Given the description of an element on the screen output the (x, y) to click on. 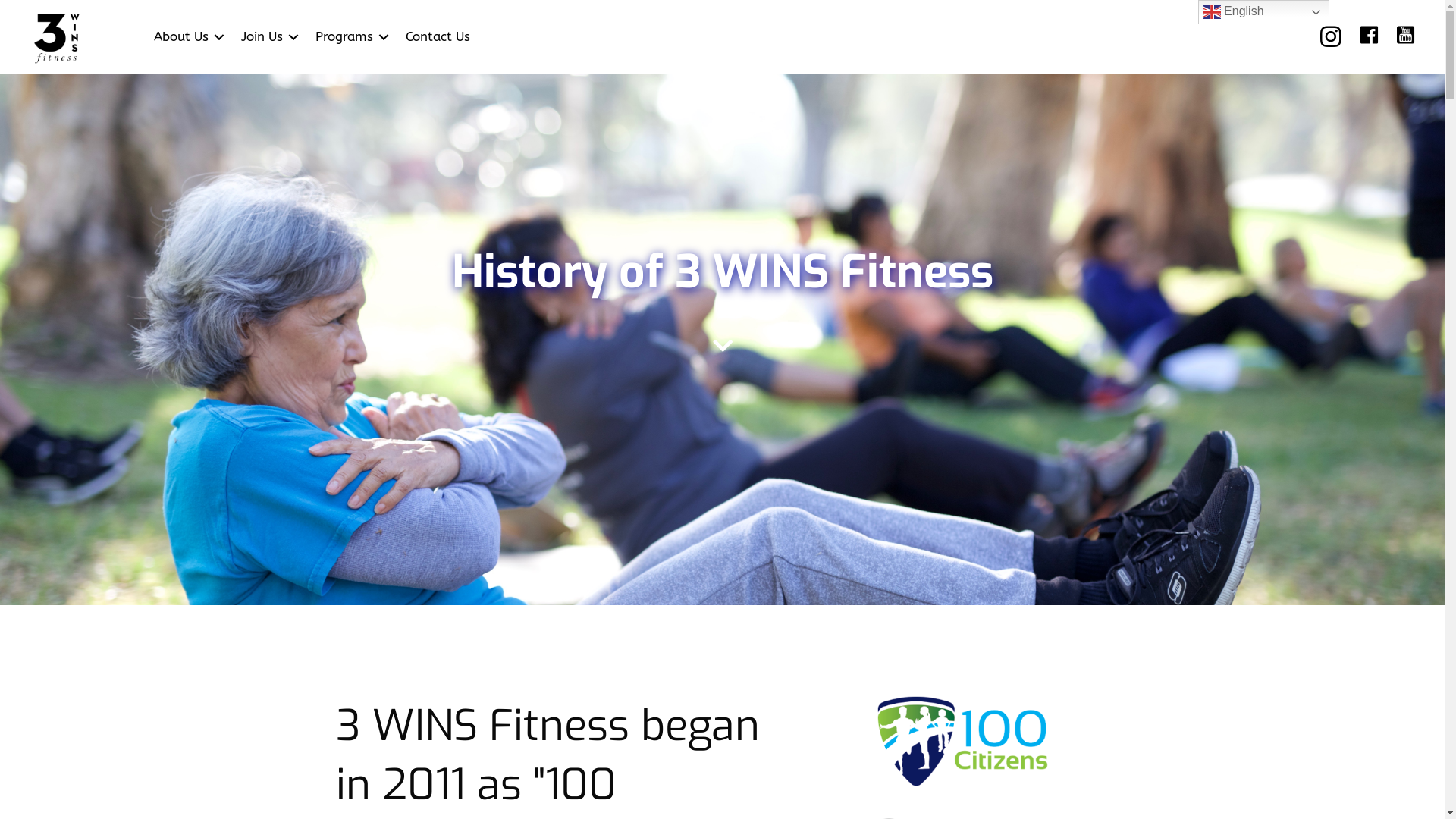
Join Us Element type: text (267, 36)
About Us Element type: text (186, 36)
English Element type: text (1263, 12)
3 WINS Square_BLACK Element type: hover (56, 36)
Contact Us Element type: text (437, 36)
Programs Element type: text (349, 36)
Untitled Element type: hover (963, 741)
